Given the description of an element on the screen output the (x, y) to click on. 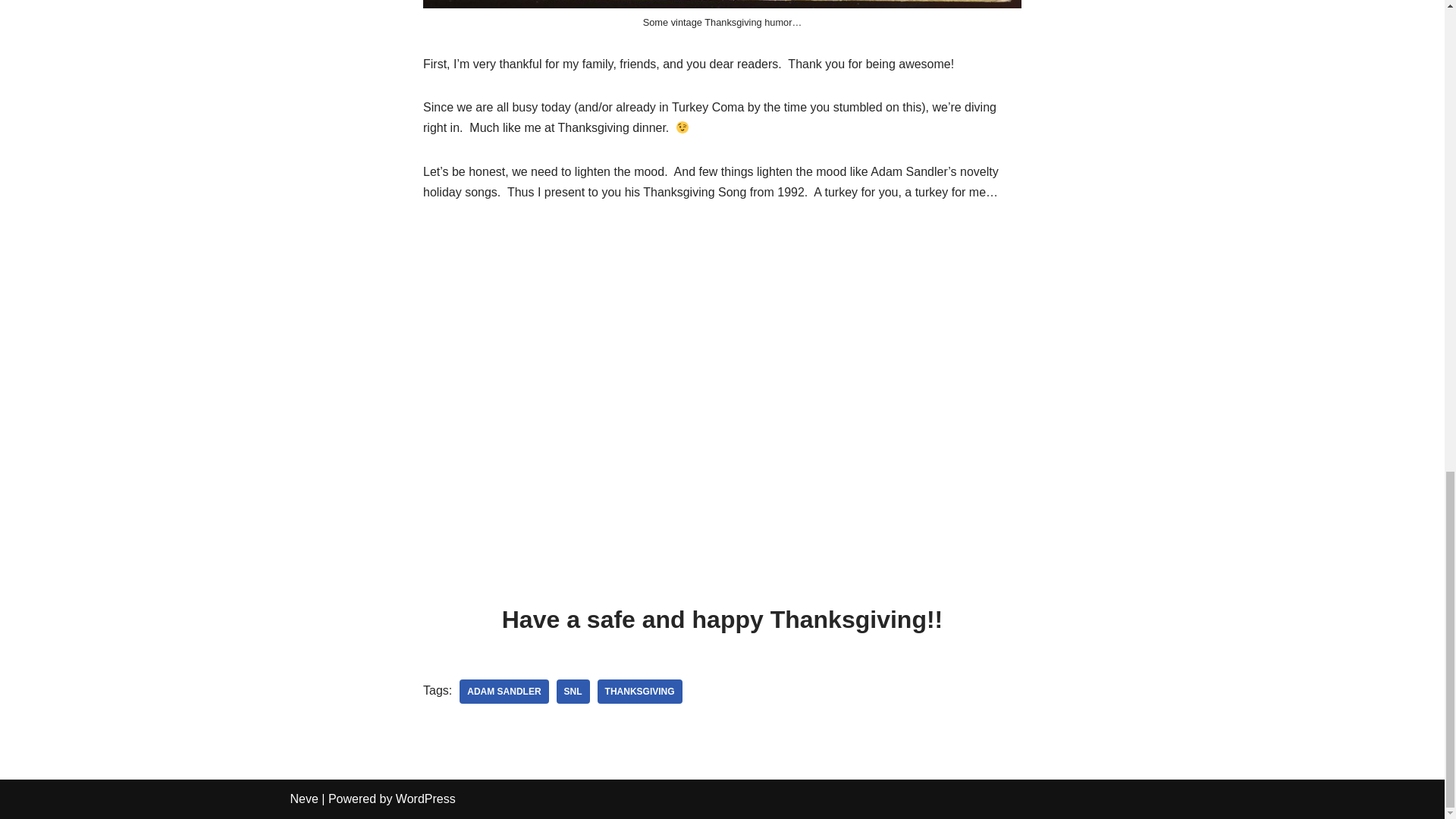
Neve (303, 798)
SNL (572, 691)
THANKSGIVING (639, 691)
Adam Sandler (504, 691)
WordPress (425, 798)
SNL (572, 691)
ADAM SANDLER (504, 691)
Thanksgiving (639, 691)
